Given the description of an element on the screen output the (x, y) to click on. 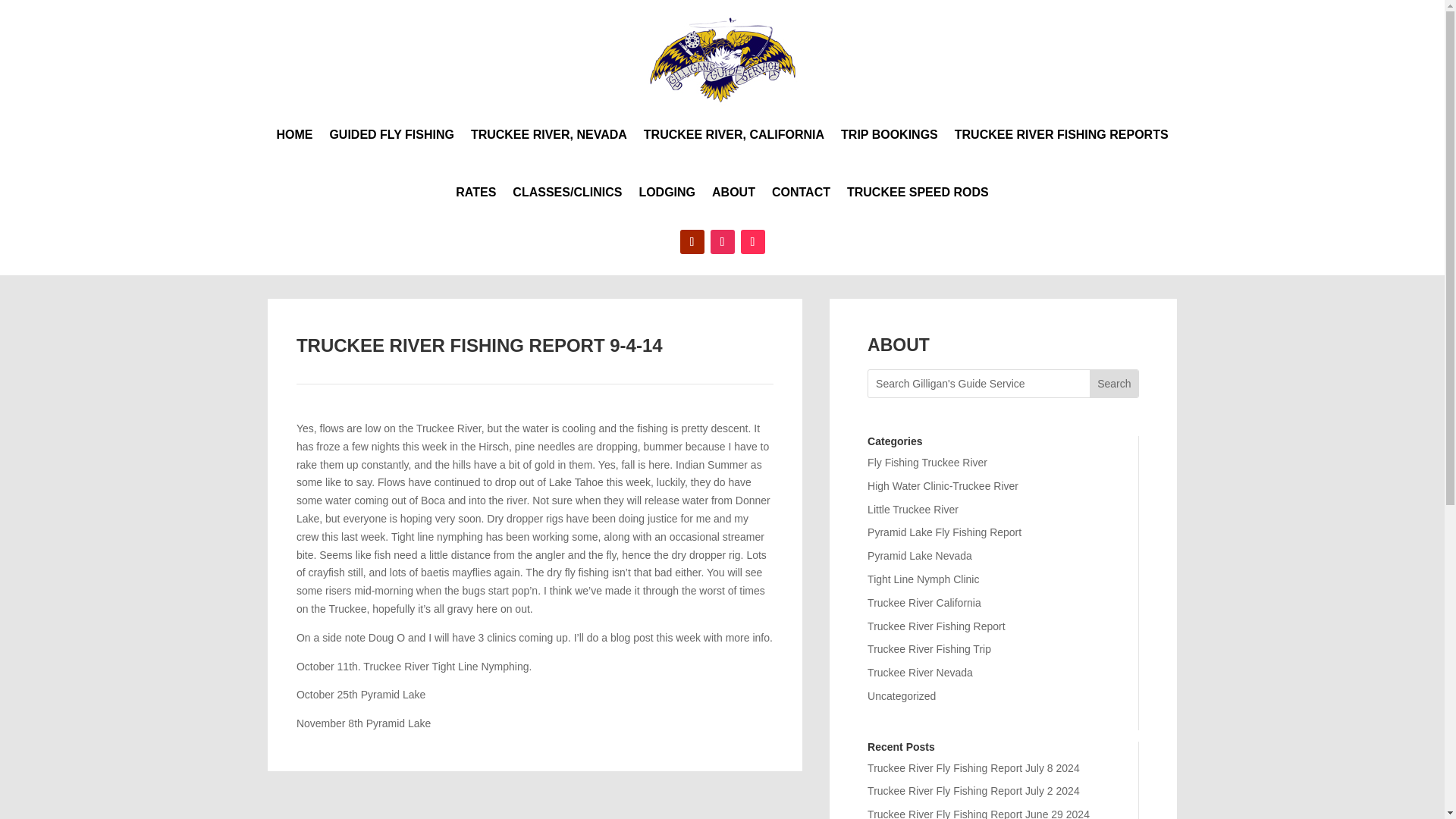
Follow on Youtube (691, 241)
Follow on Instagram (721, 241)
Search (1113, 383)
LODGING (667, 192)
High Water Clinic-Truckee River (942, 485)
CONTACT (800, 192)
Tight Line Nymph Clinic (922, 579)
TRIP BOOKINGS (889, 134)
TRUCKEE RIVER, NEVADA (548, 134)
GUIDED FLY FISHING (390, 134)
Uncategorized (901, 695)
Truckee River Fishing Report (936, 625)
Pyramid Lake Nevada (919, 555)
Truckee River California (924, 603)
Little Truckee River (912, 509)
